Given the description of an element on the screen output the (x, y) to click on. 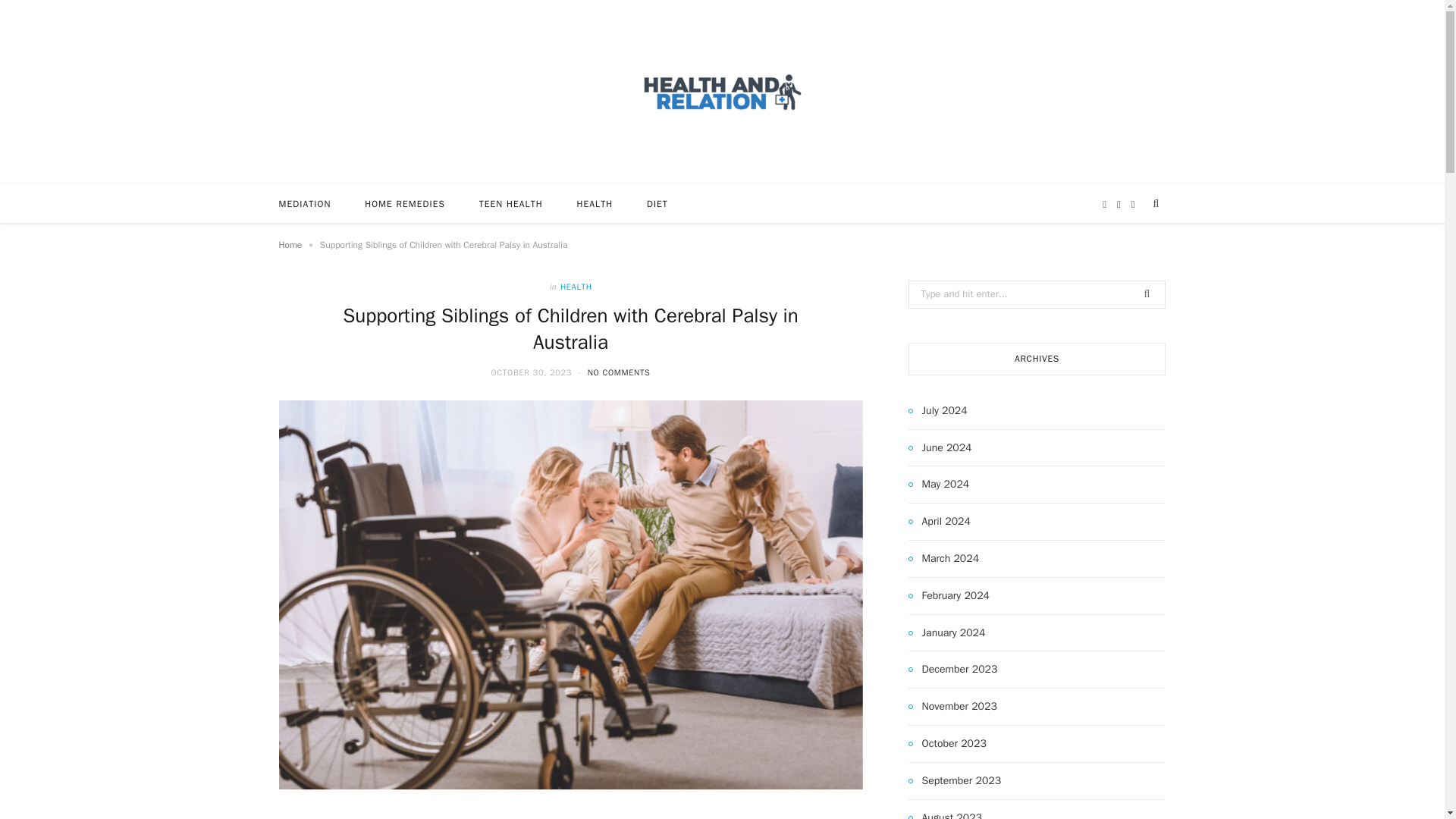
January 2024 (946, 633)
TEEN HEALTH (510, 203)
Instagram (1133, 204)
February 2024 (949, 596)
Search for: (1037, 294)
HEALTH (576, 286)
HOME REMEDIES (404, 203)
April 2024 (939, 521)
HEALTH (593, 203)
June 2024 (940, 447)
OCTOBER 30, 2023 (532, 371)
MEDIATION (304, 203)
Twitter (1118, 204)
Home (290, 244)
March 2024 (943, 558)
